Given the description of an element on the screen output the (x, y) to click on. 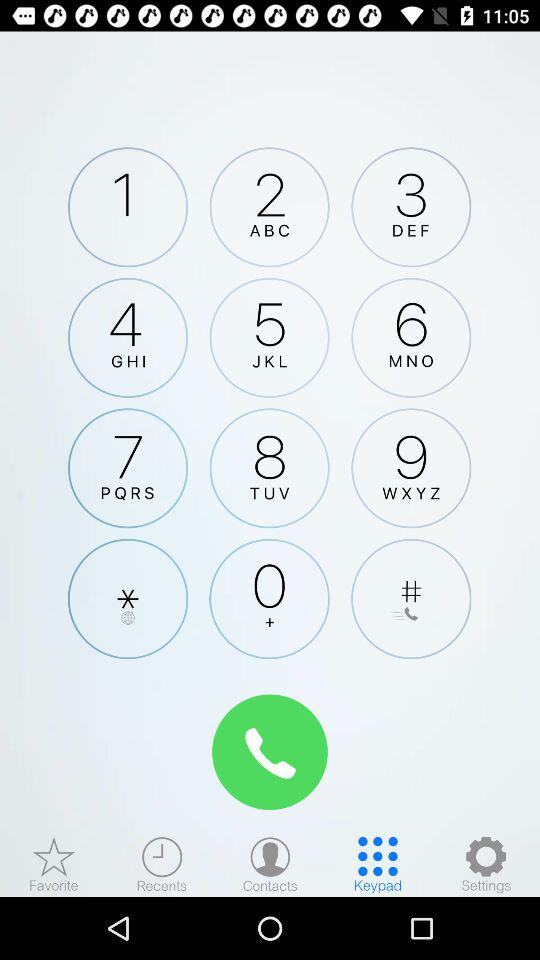
dial 8 (269, 468)
